Given the description of an element on the screen output the (x, y) to click on. 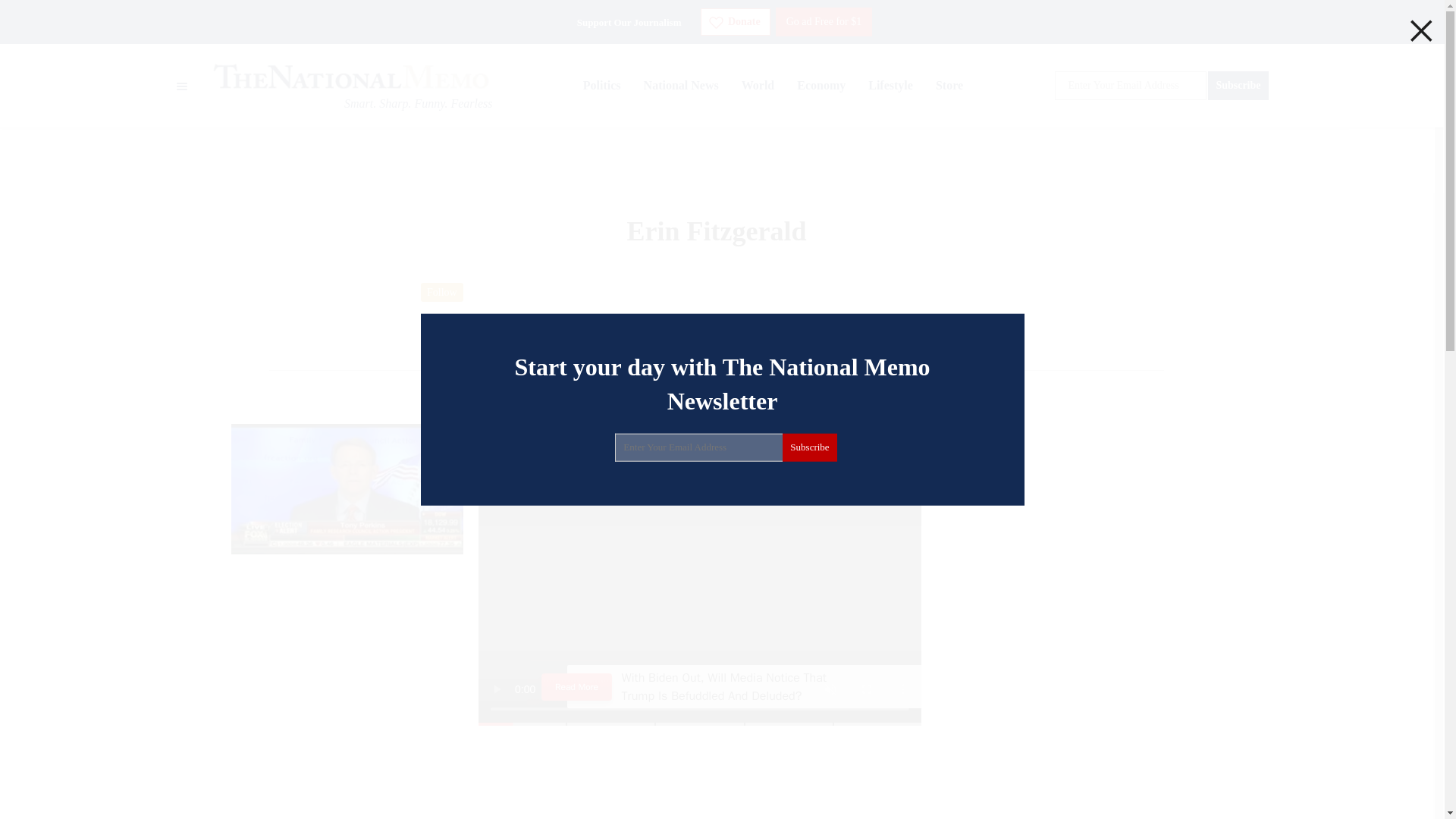
Subscribe (1238, 85)
Subscribe (809, 447)
